Given the description of an element on the screen output the (x, y) to click on. 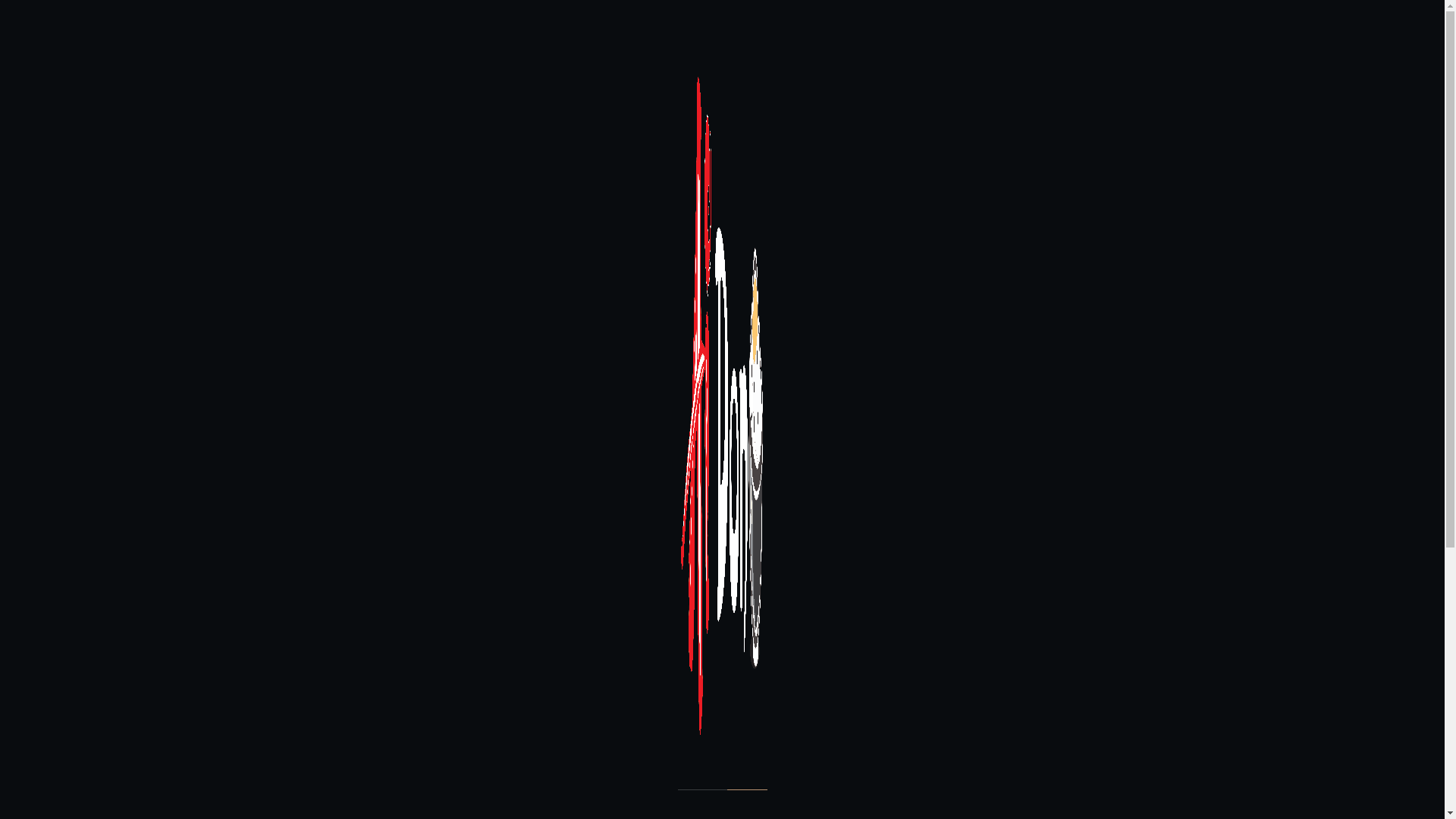
Facebook Element type: hover (709, 18)
Instagram Element type: hover (733, 18)
ABOUT Element type: text (722, 70)
ORDER ONLINE Element type: text (1354, 70)
HOME Element type: text (663, 70)
MENU Element type: text (780, 70)
4907 YONGE ST, NORTH YORK, ONTARIO Element type: text (1316, 16)
